Given the description of an element on the screen output the (x, y) to click on. 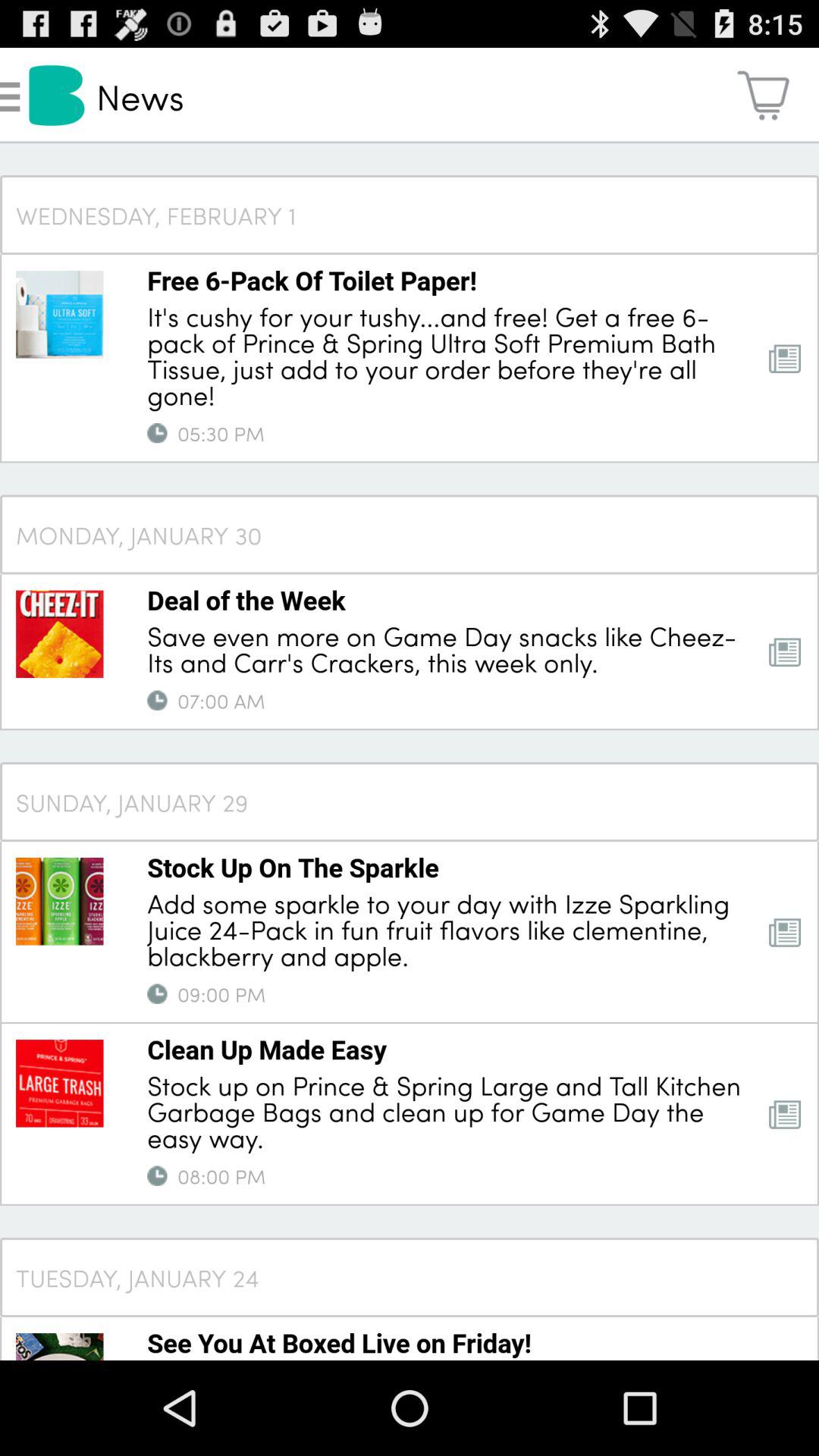
tap item above monday, january 30 item (220, 433)
